Given the description of an element on the screen output the (x, y) to click on. 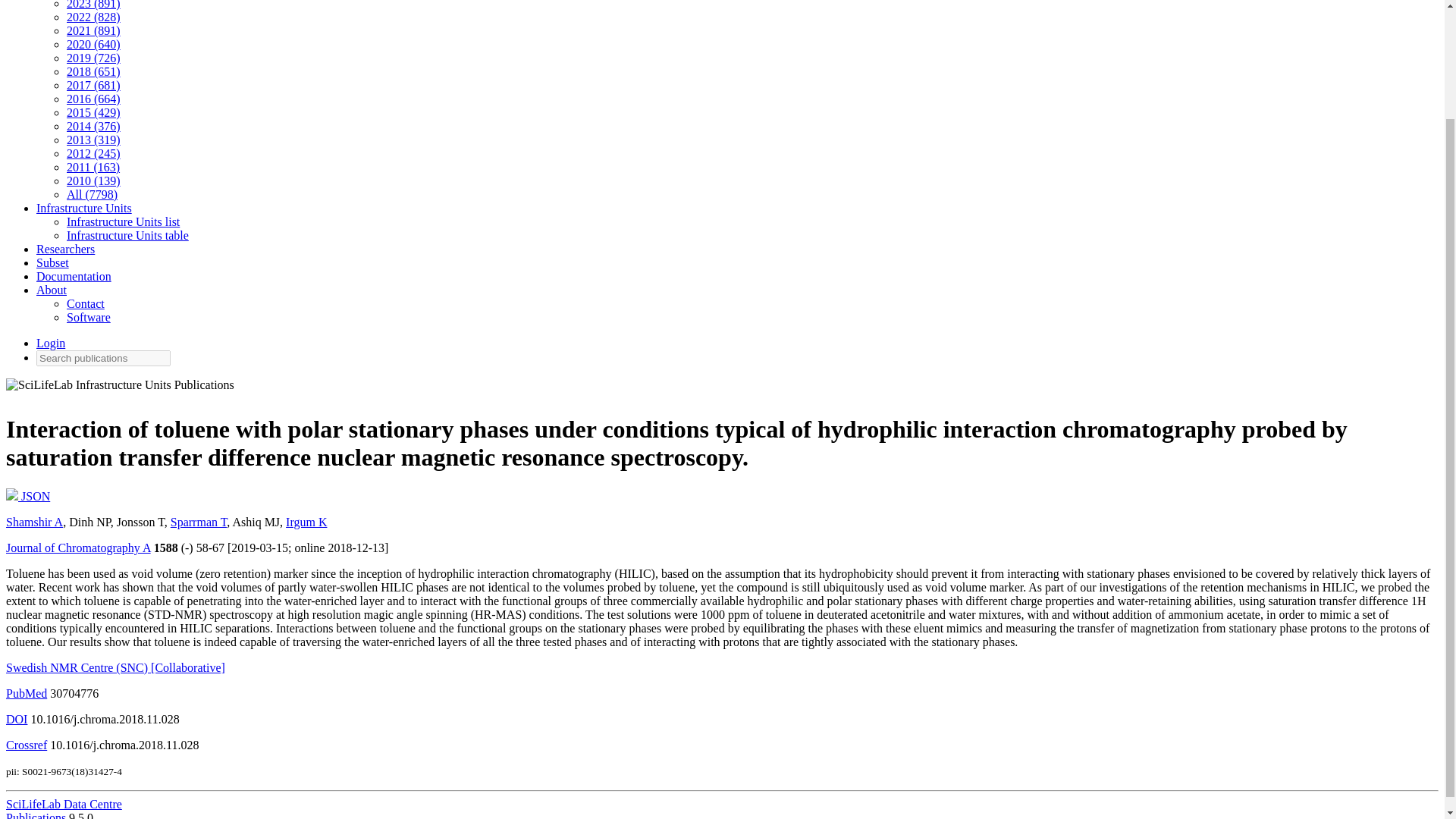
Infrastructure Units table (127, 235)
Login (50, 342)
SciLifeLab Infrastructure Units Publications (119, 388)
Contact (85, 303)
Journal of Chromatography A (78, 547)
Software (88, 317)
Infrastructure Units (84, 207)
Shamshir A (33, 521)
Subset (52, 262)
DOI (16, 718)
Infrastructure Units list (122, 221)
Sparrman T (198, 521)
Documentation (74, 276)
Irgum K (305, 521)
PubMed (25, 693)
